Given the description of an element on the screen output the (x, y) to click on. 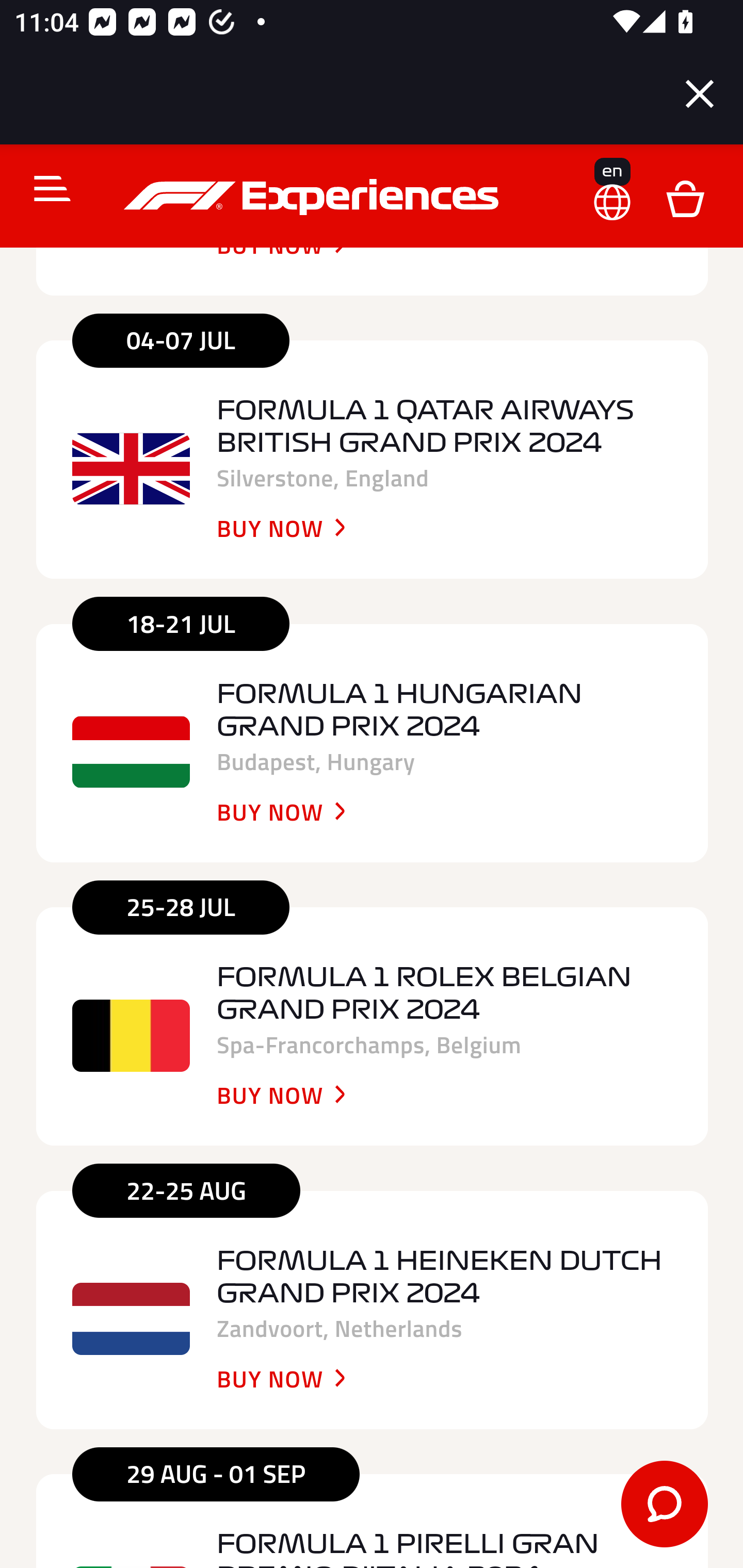
Close (699, 93)
Toggle navigation C (43, 189)
D (684, 198)
f1experiences (313, 197)
